Given the description of an element on the screen output the (x, y) to click on. 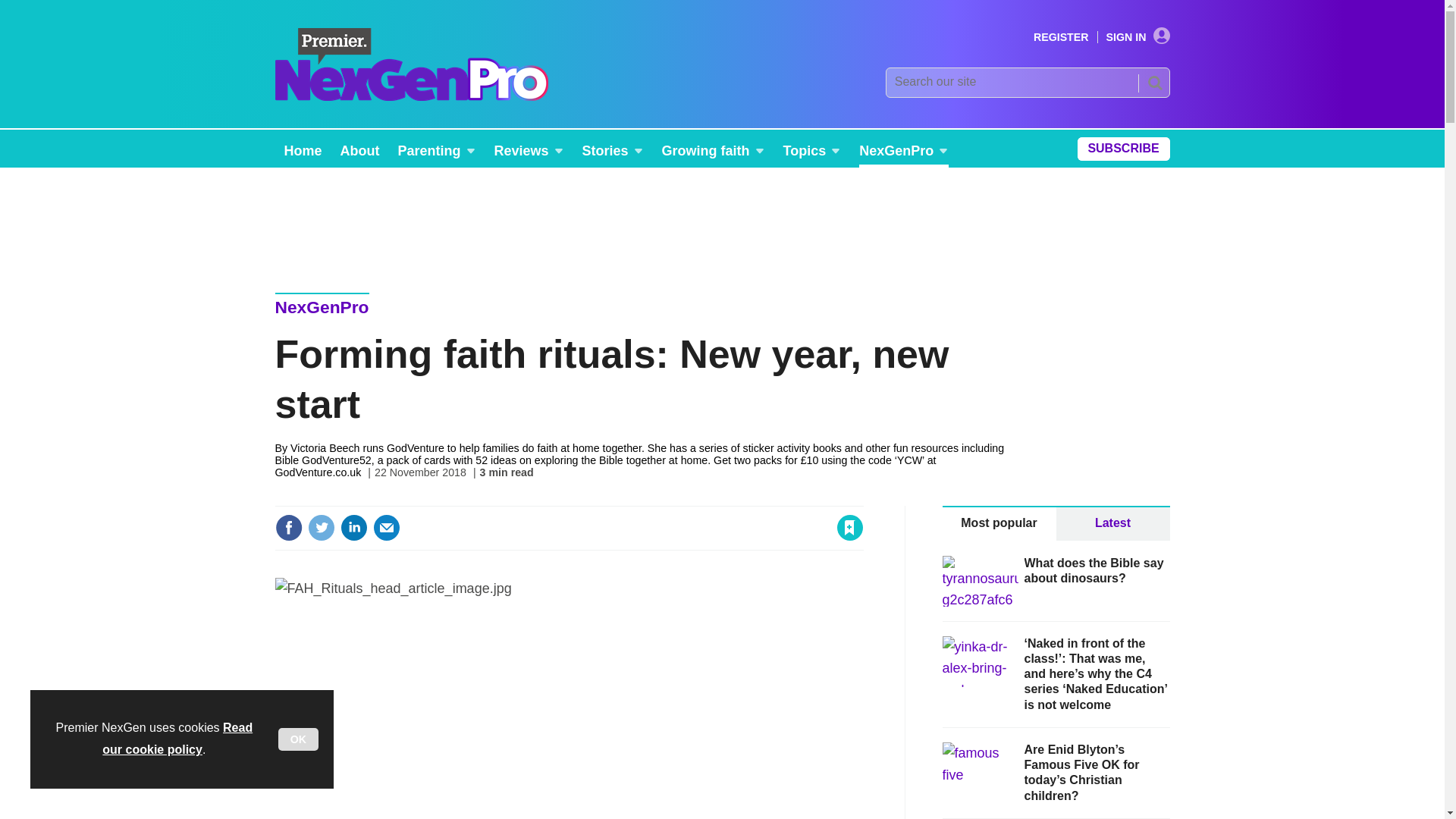
OK (298, 739)
About (359, 148)
3rd party ad content (721, 219)
Share this on Linked in (352, 527)
Share this on Twitter (320, 527)
SIGN IN (1138, 37)
Read our cookie policy (176, 738)
Email this article (386, 527)
Parenting (436, 148)
Share this on Facebook (288, 527)
